Given the description of an element on the screen output the (x, y) to click on. 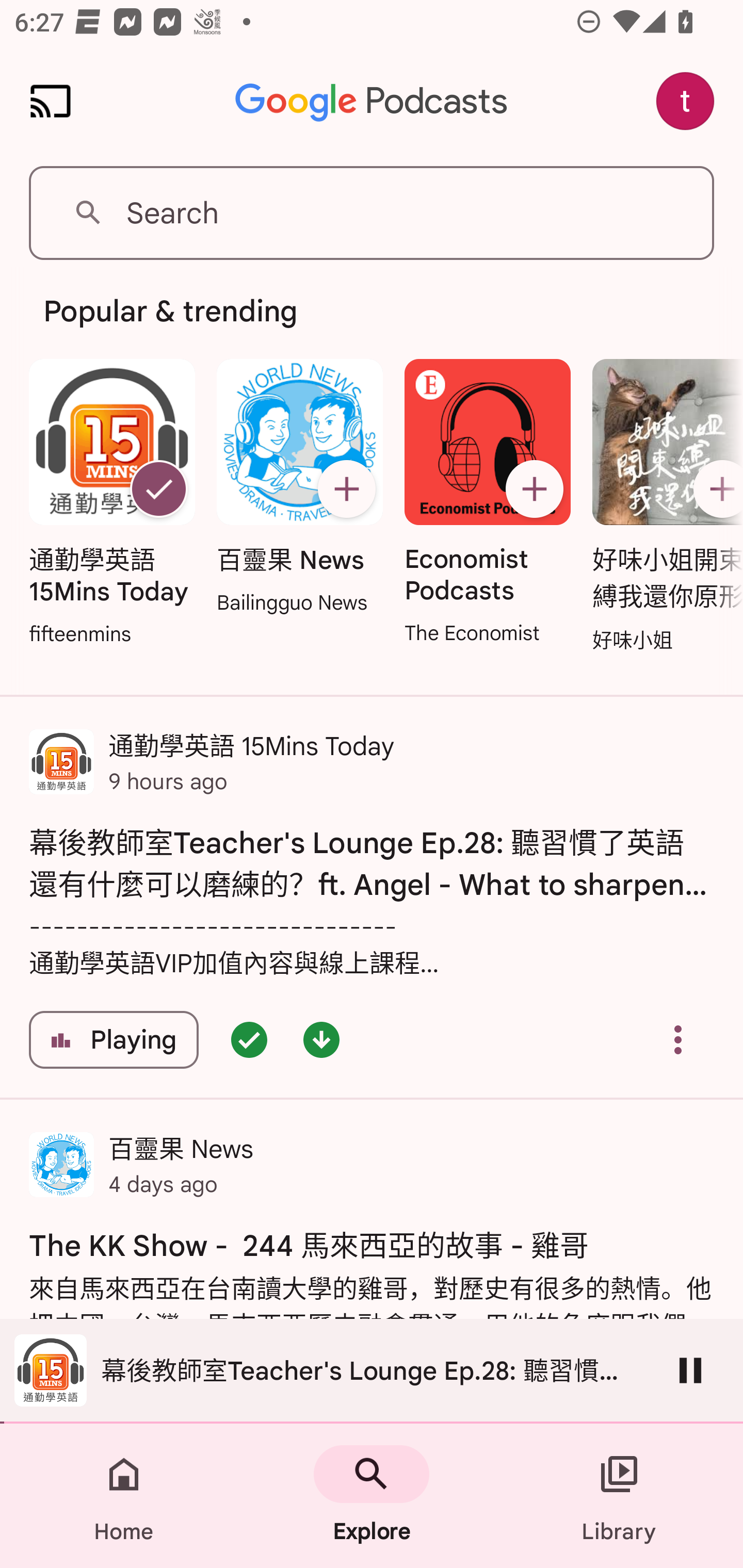
Cast. Disconnected (50, 101)
Search (371, 212)
百靈果 News Subscribe 百靈果 News Bailingguo News (299, 488)
好味小姐開束縛我還你原形 Subscribe 好味小姐開束縛我還你原形 好味小姐 (662, 507)
Unsubscribe (158, 489)
Subscribe (346, 489)
Subscribe (534, 489)
Subscribe (714, 489)
Episode queued - double tap for options (249, 1040)
Episode downloaded - double tap for options (321, 1040)
Overflow menu (677, 1040)
Pause (690, 1370)
Home (123, 1495)
Library (619, 1495)
